Given the description of an element on the screen output the (x, y) to click on. 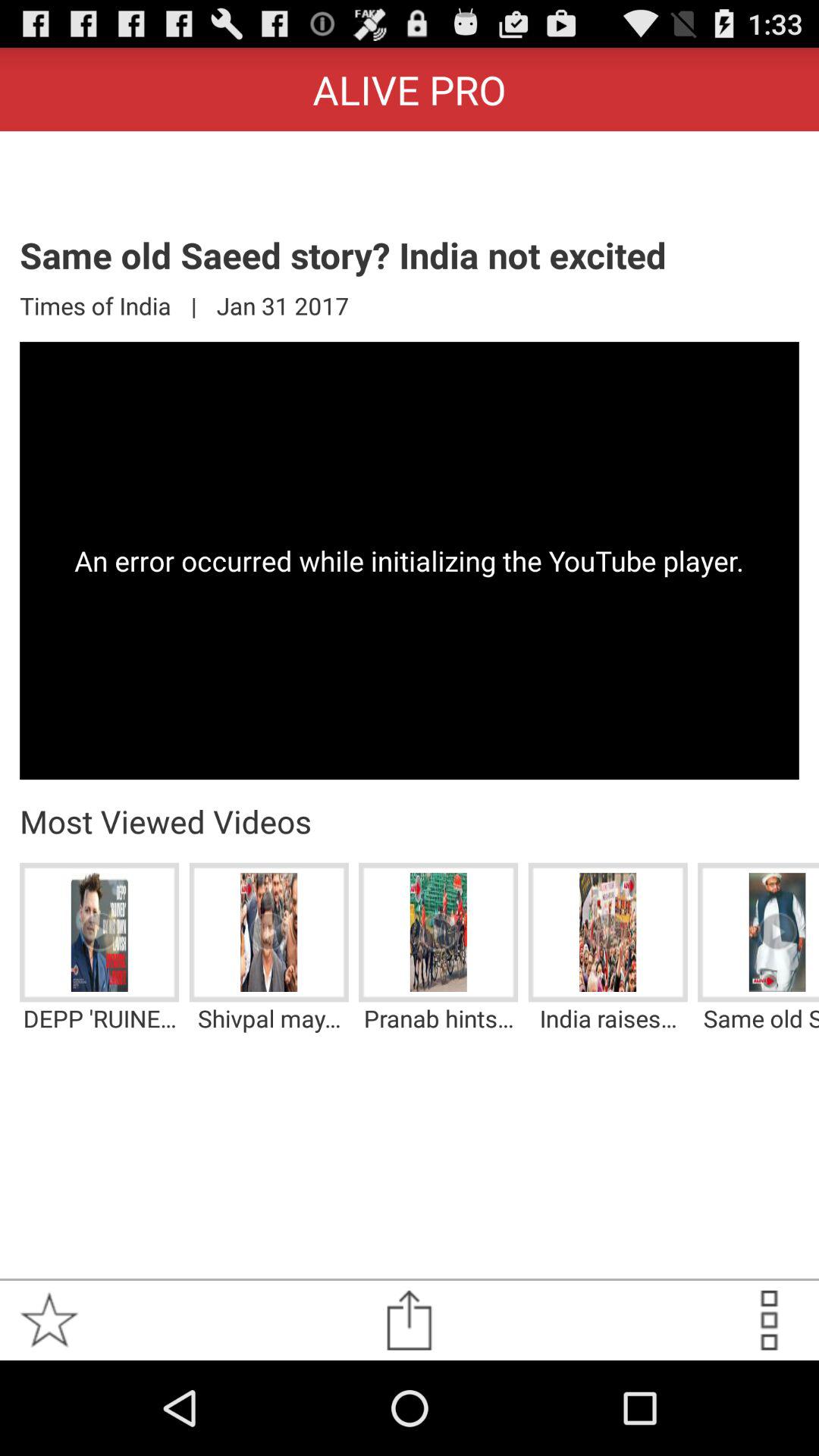
bookmark (49, 1320)
